Given the description of an element on the screen output the (x, y) to click on. 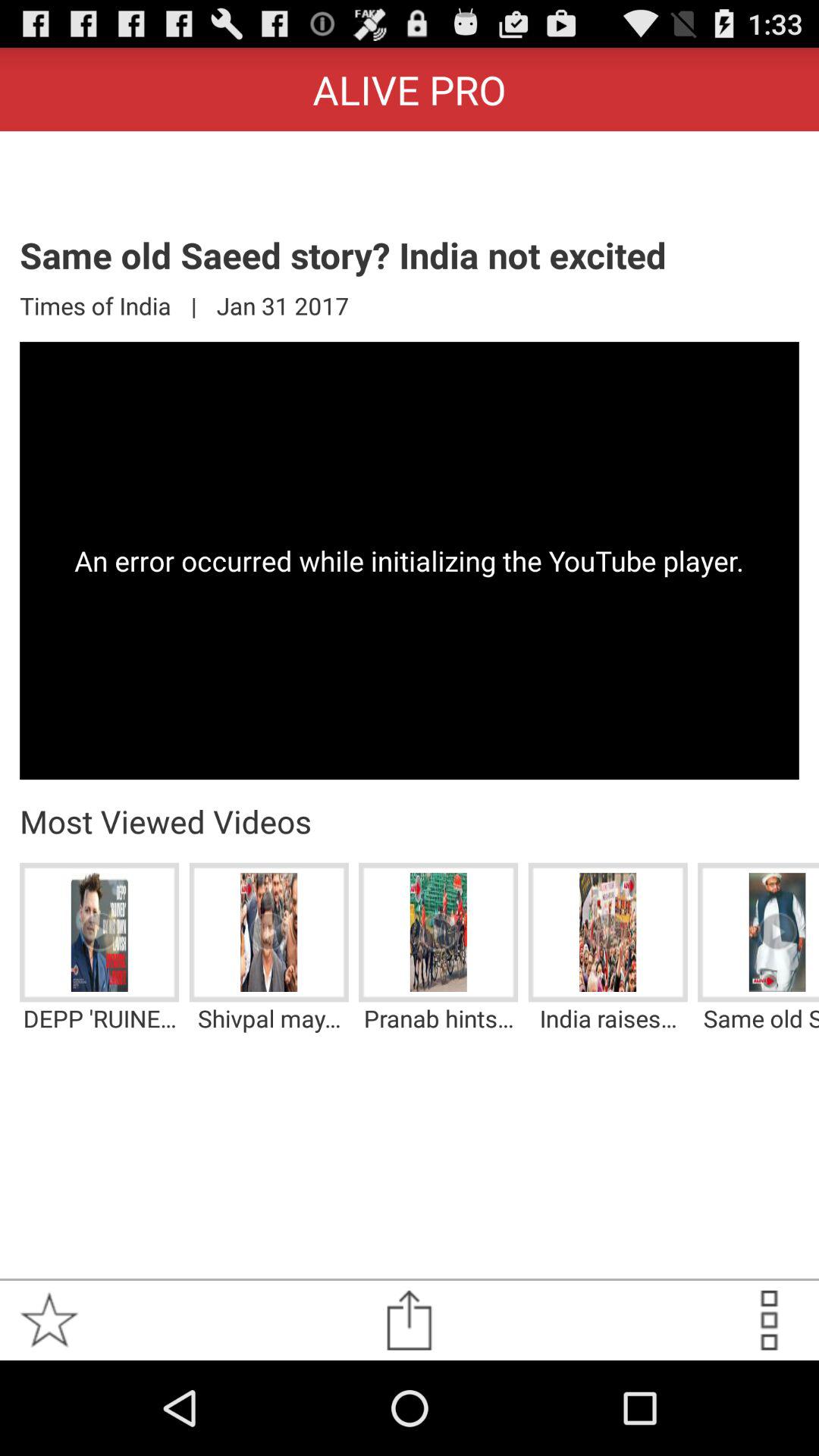
bookmark (49, 1320)
